Given the description of an element on the screen output the (x, y) to click on. 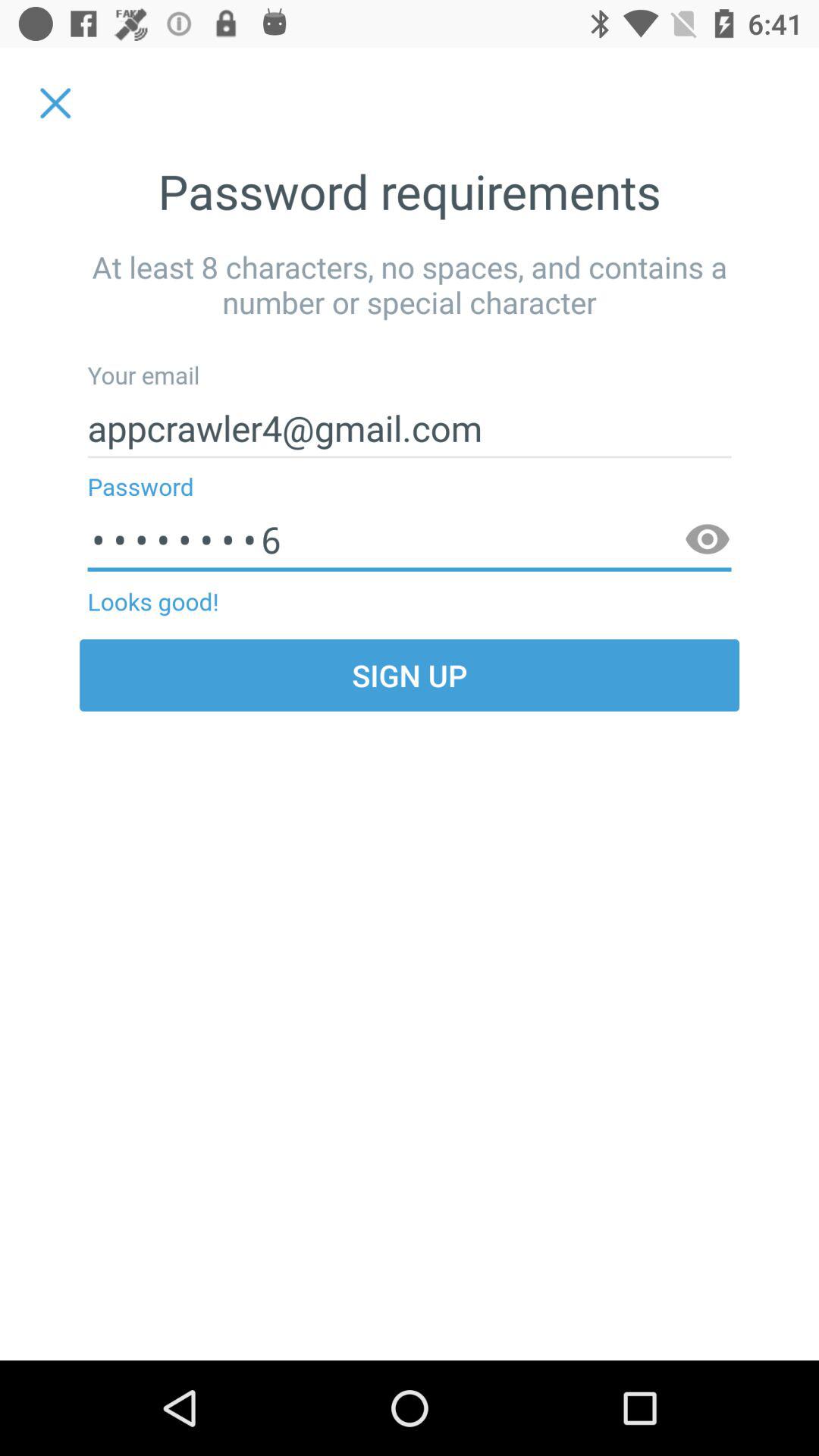
tap the sign up icon (409, 675)
